Given the description of an element on the screen output the (x, y) to click on. 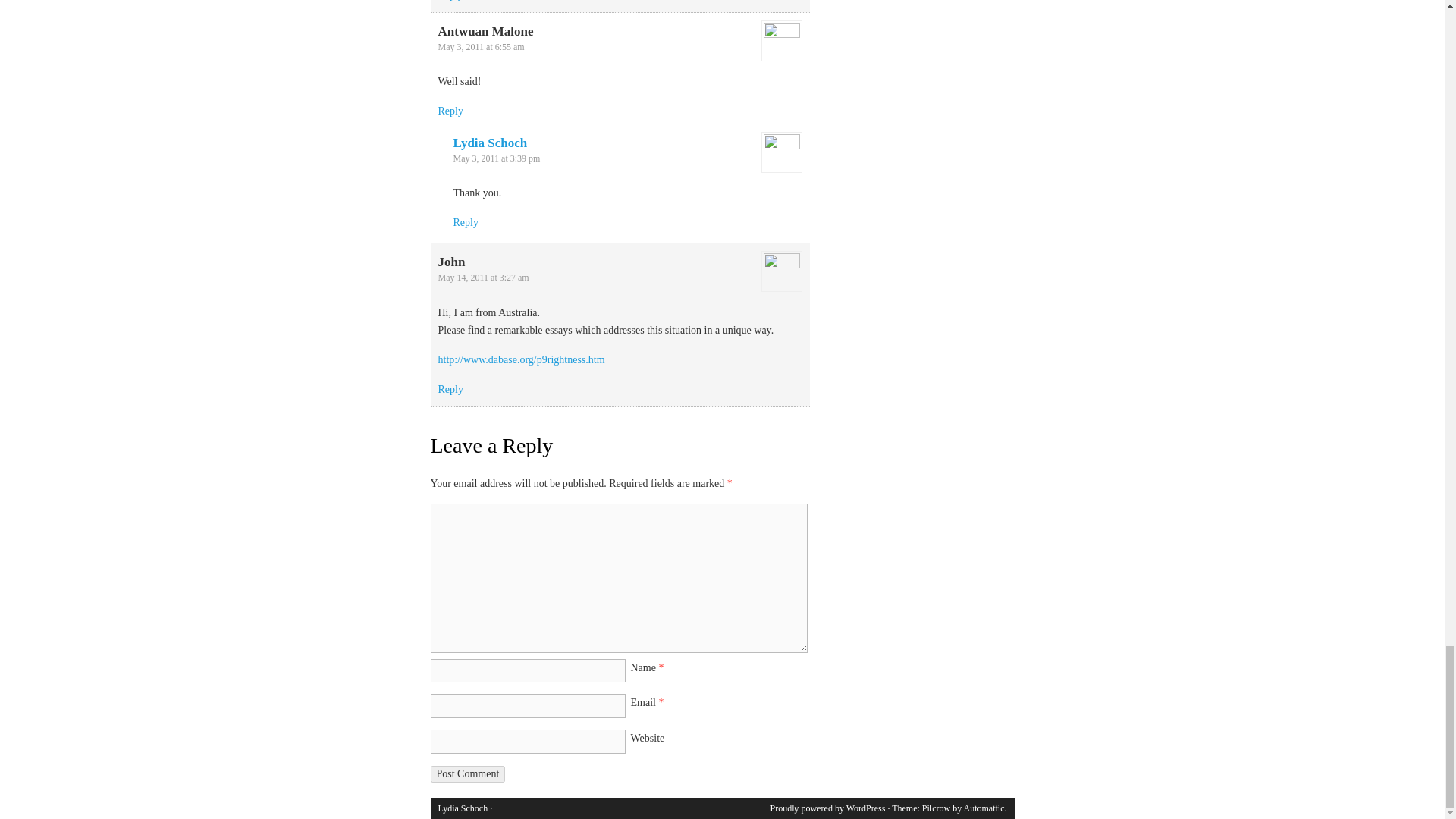
Lydia Schoch (462, 808)
Post Comment (467, 773)
A Semantic Personal Publishing Platform (827, 808)
